Given the description of an element on the screen output the (x, y) to click on. 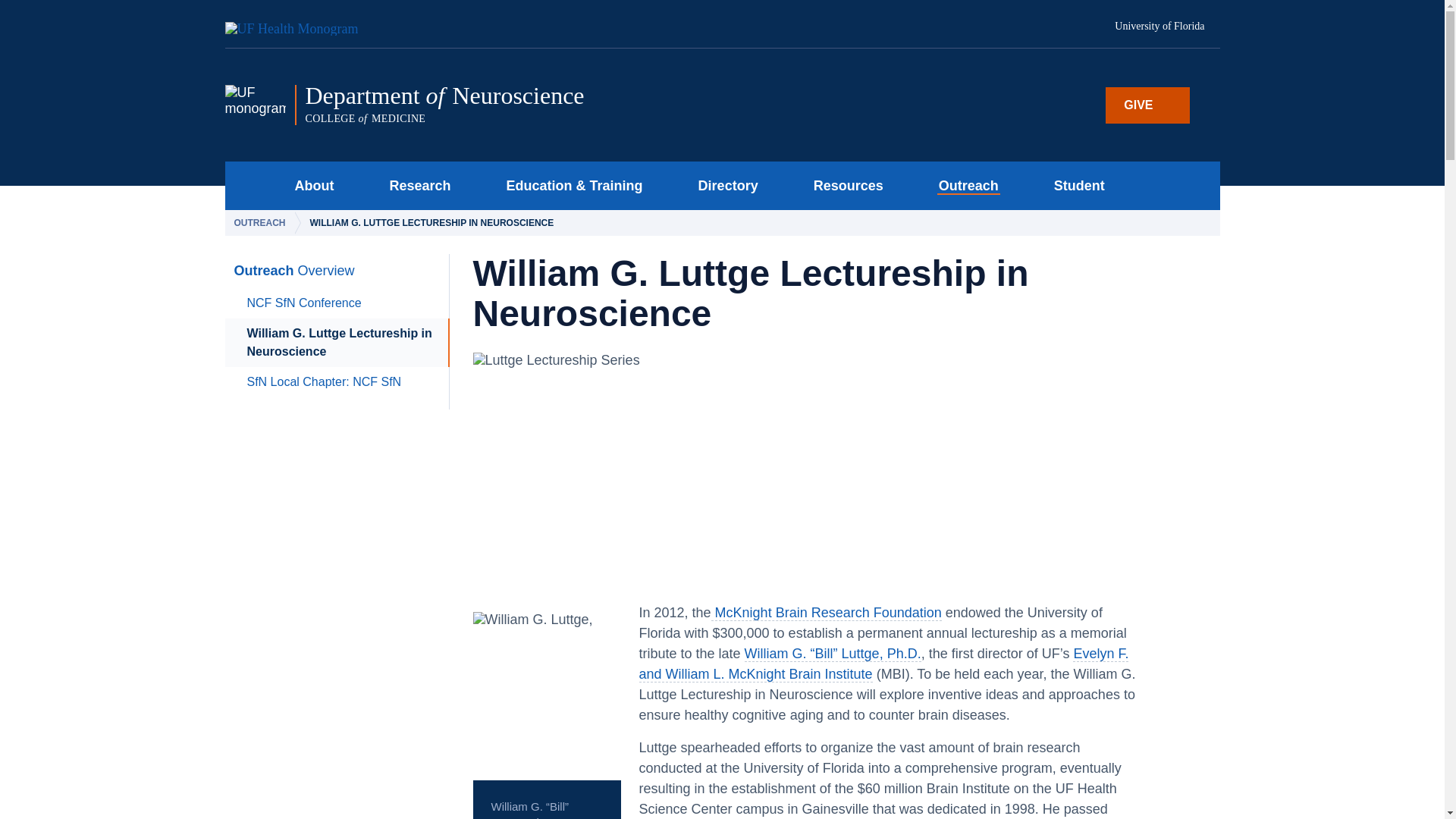
About (309, 185)
Directory (515, 105)
Skip to main content (723, 185)
GIVE (299, 24)
University of Florida (1147, 104)
Research (1167, 26)
Skip to main content (415, 185)
